Given the description of an element on the screen output the (x, y) to click on. 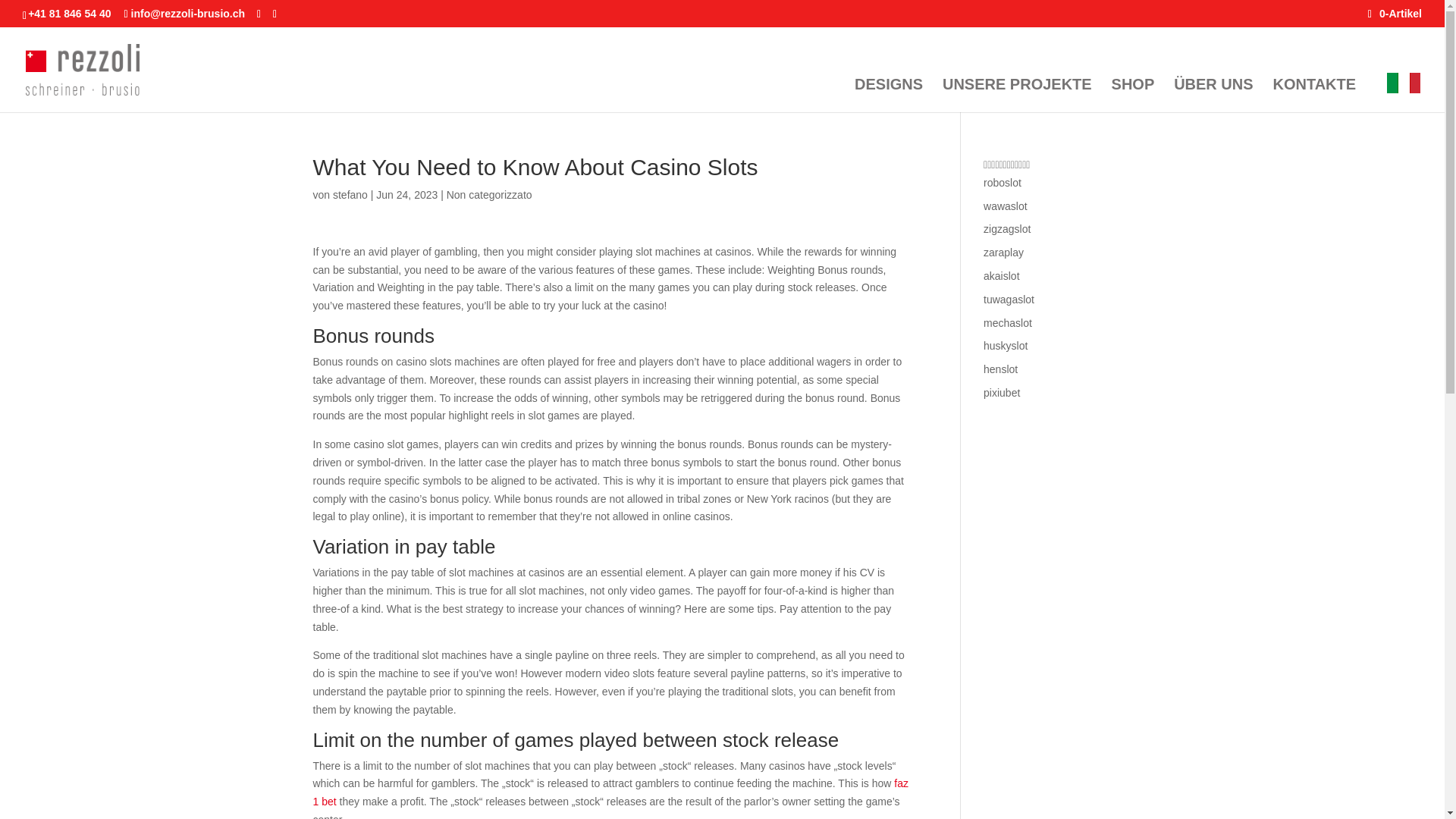
mechaslot (1008, 322)
akaislot (1001, 275)
huskyslot (1005, 345)
pixiubet (1002, 392)
SHOP (1133, 95)
faz 1 bet (610, 792)
wawaslot (1005, 205)
zigzagslot (1007, 228)
zaraplay (1003, 252)
UNSERE PROJEKTE (1017, 95)
DESIGNS (888, 95)
Non categorizzato (489, 194)
0-Artikel (1395, 13)
stefano (350, 194)
roboslot (1003, 182)
